Given the description of an element on the screen output the (x, y) to click on. 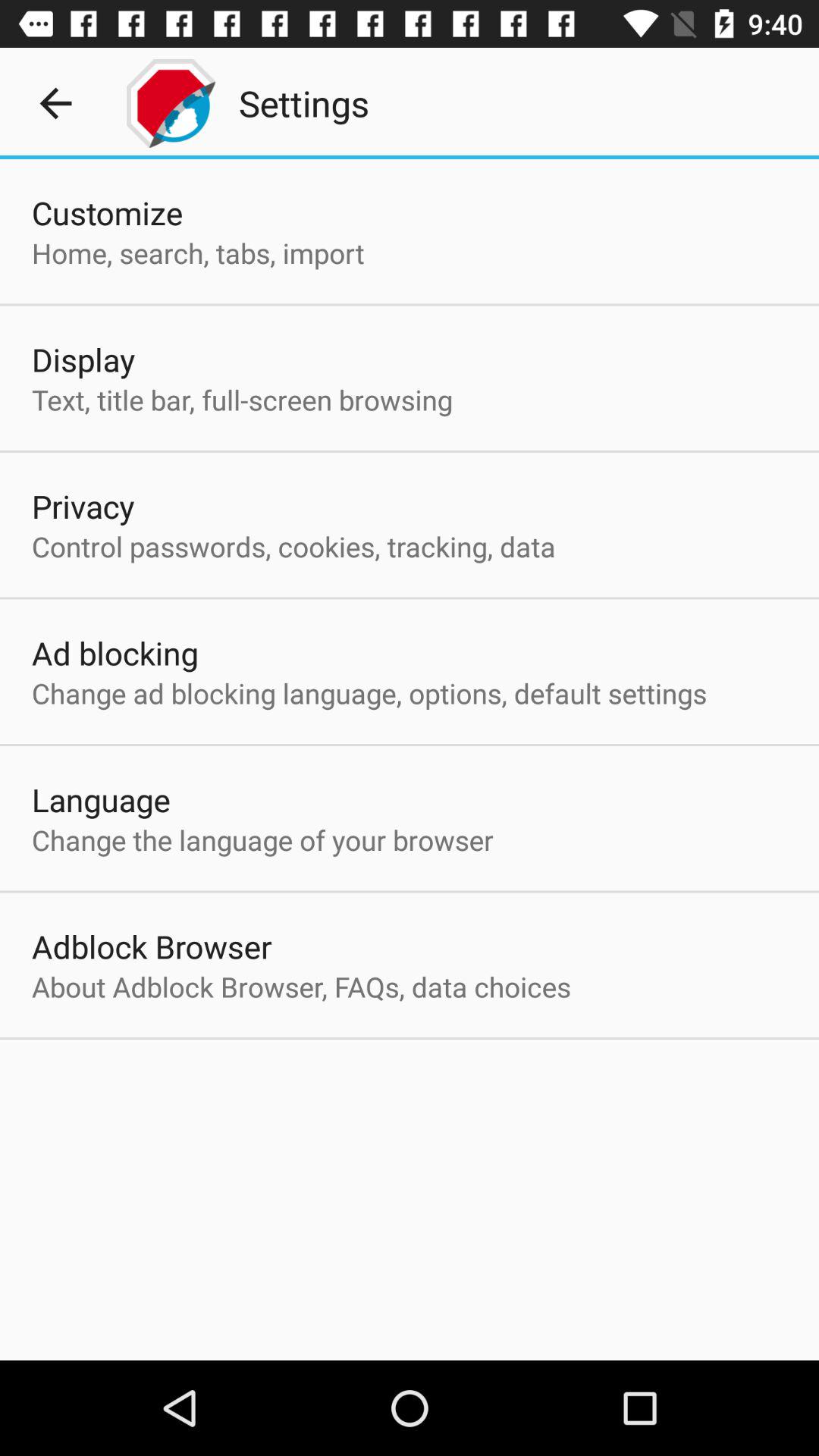
turn off the icon above the customize app (55, 103)
